Given the description of an element on the screen output the (x, y) to click on. 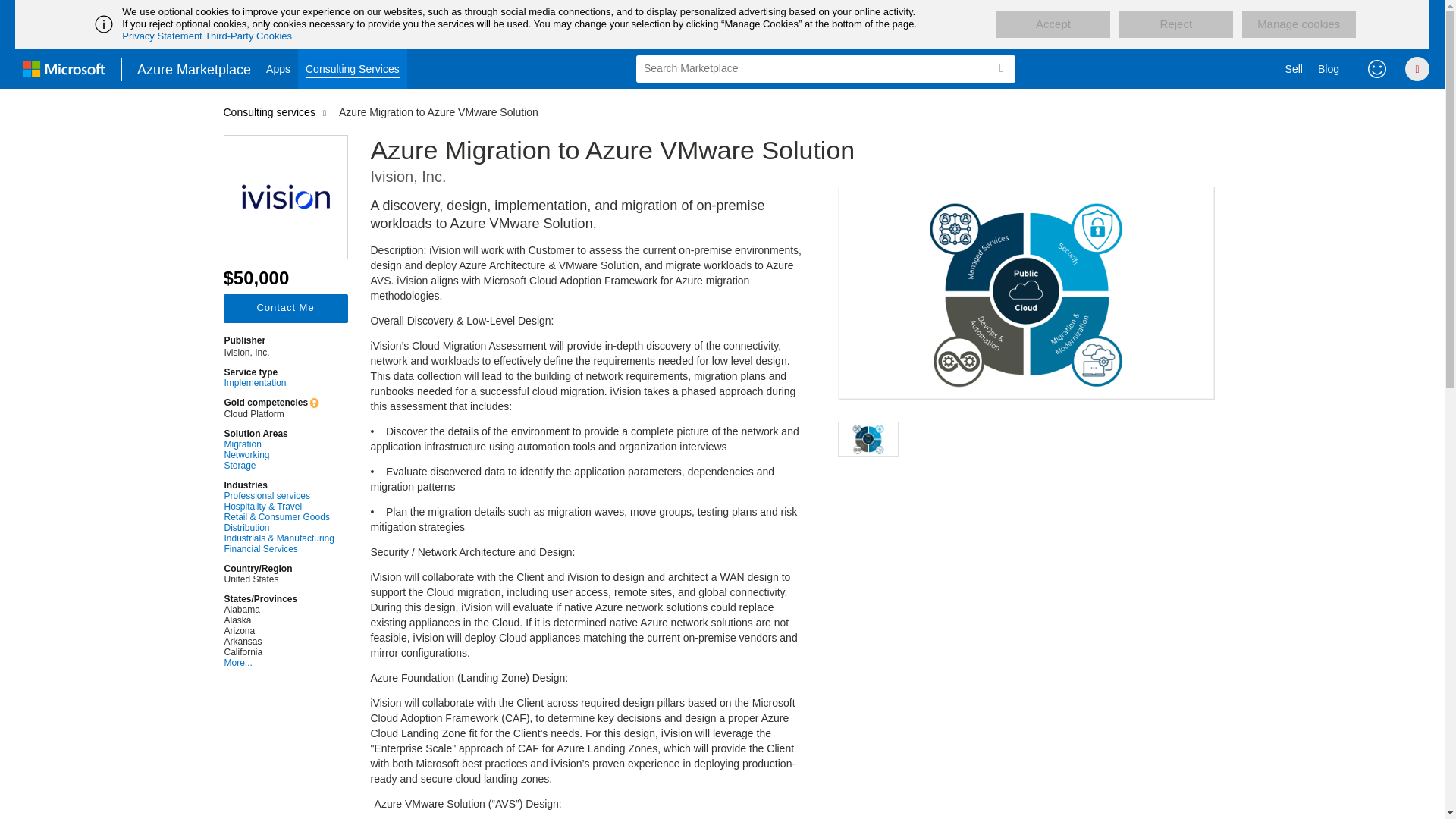
Apps (278, 68)
Accept (1052, 23)
Azure Marketplace (194, 68)
Reject (1176, 23)
Manage cookies (1298, 23)
Feedback (1377, 68)
Privacy Statement (162, 35)
Search (1001, 68)
Blog (1328, 68)
Search  (1001, 68)
Third-Party Cookies (248, 35)
Consulting Services (352, 68)
